Given the description of an element on the screen output the (x, y) to click on. 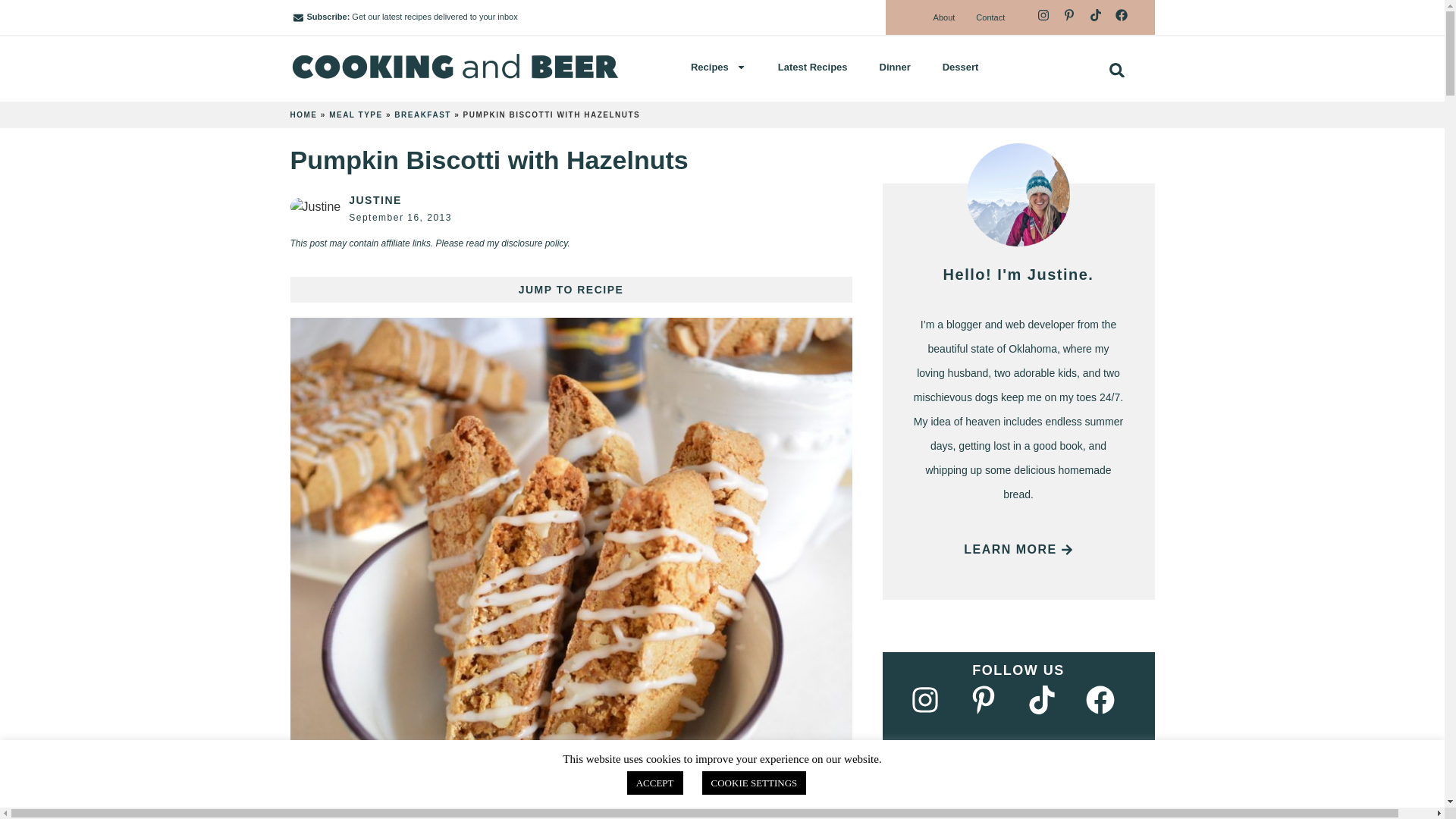
Dinner (894, 66)
Contact (989, 17)
Dessert (960, 66)
September 16, 2013 (400, 216)
About (944, 17)
JUMP TO RECIPE (570, 289)
HOME (303, 114)
Subscribe: Get our latest recipes delivered to your inbox (595, 17)
Recipes (718, 66)
BREAKFAST (422, 114)
